Given the description of an element on the screen output the (x, y) to click on. 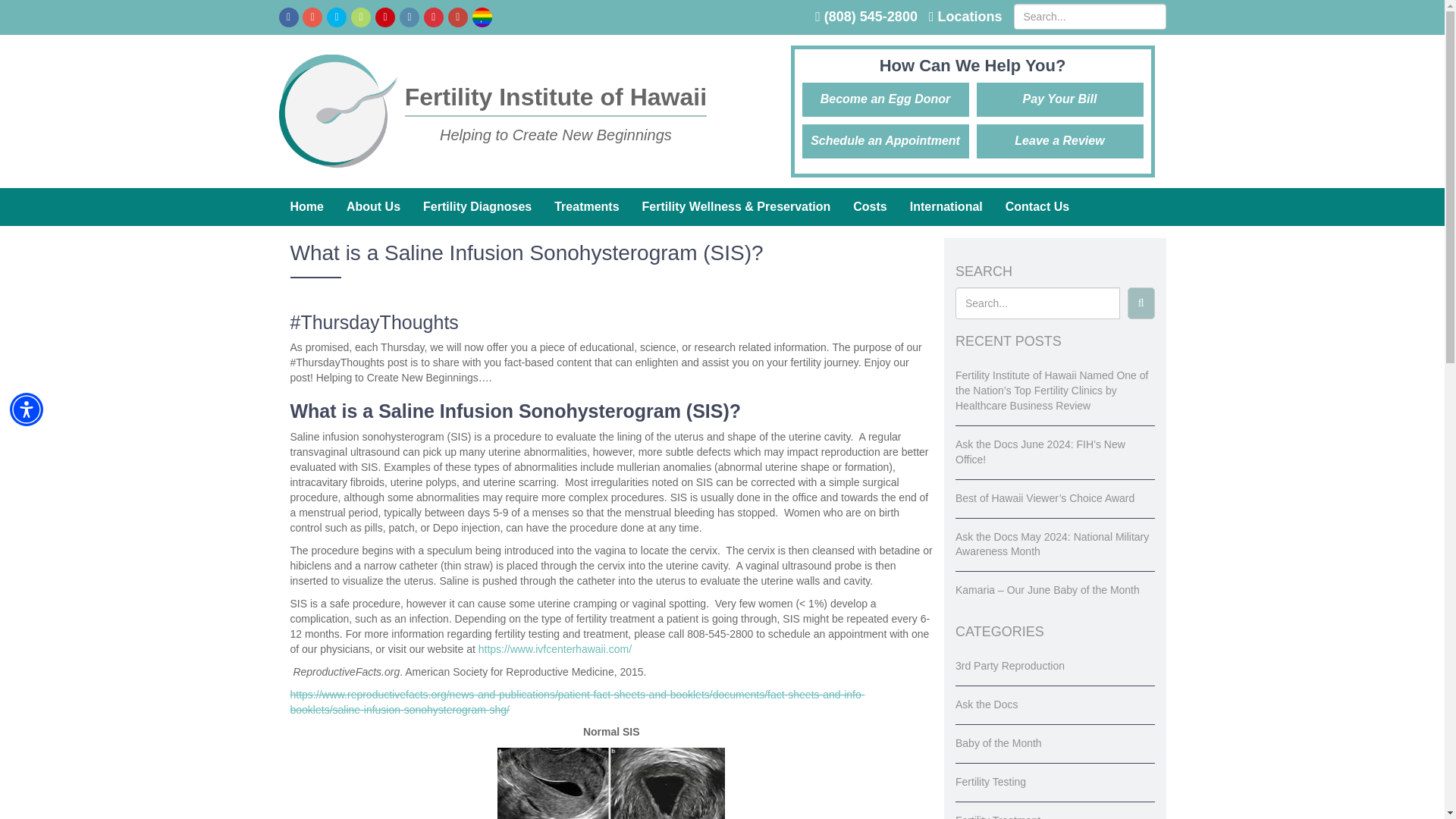
About Us (373, 207)
Accessibility Menu (26, 409)
Locations (965, 17)
Leave a Review (1059, 141)
About Us (373, 207)
Home (306, 207)
Home (306, 207)
Pay Your Bill (1059, 99)
Schedule an Appointment (885, 141)
Become an Egg Donor (885, 99)
